Given the description of an element on the screen output the (x, y) to click on. 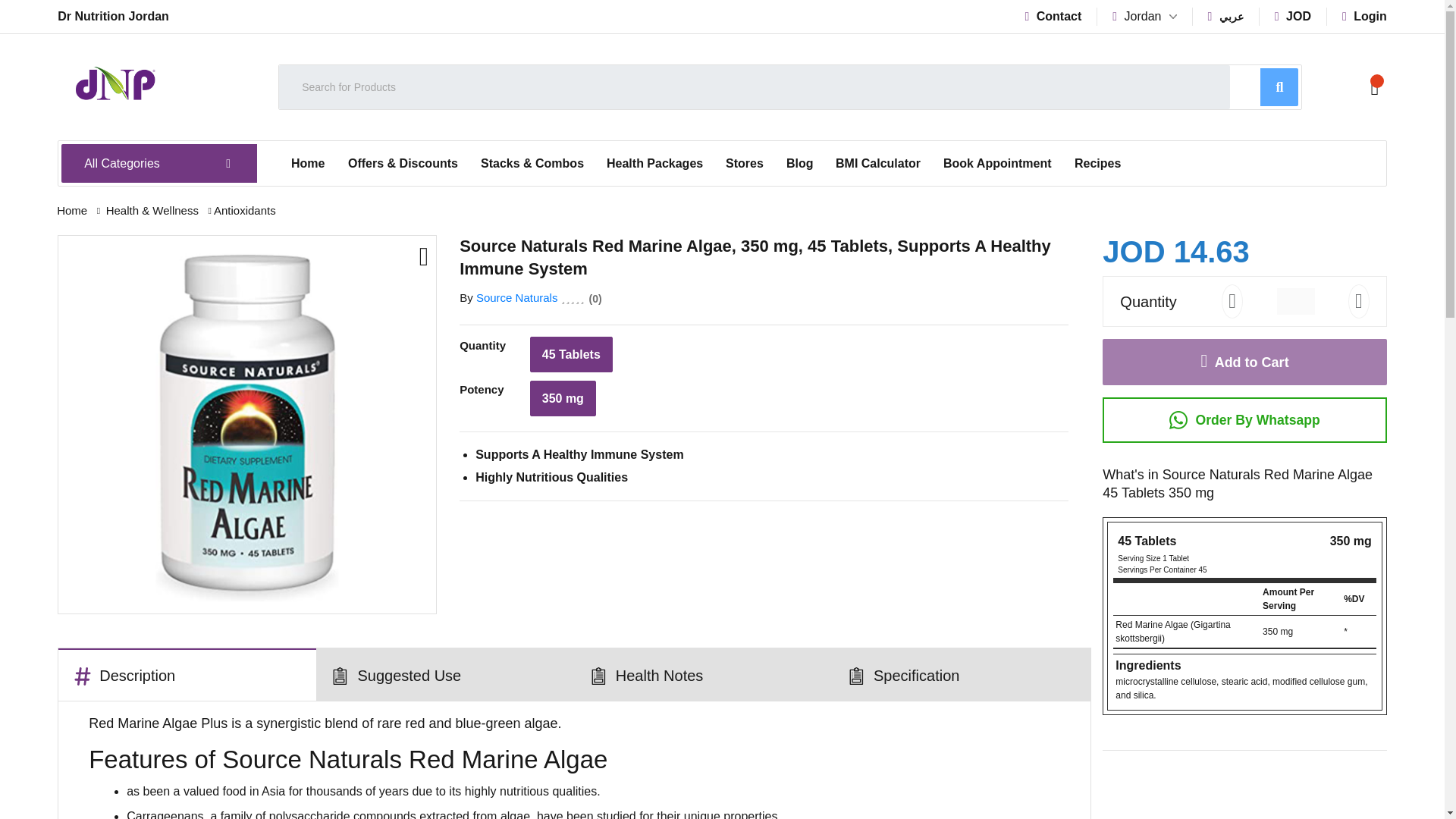
JOD (1293, 16)
Login (1364, 16)
Home (307, 163)
Stores (744, 163)
Contact (1053, 16)
Health Packages (654, 163)
Contact (1053, 16)
JOD (1293, 16)
Login (1364, 16)
